Given the description of an element on the screen output the (x, y) to click on. 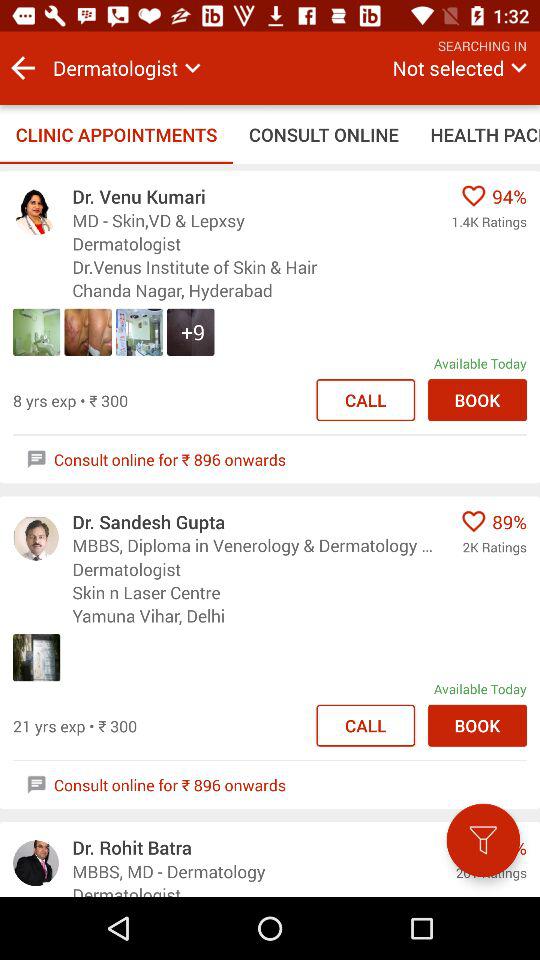
return to previous screen (23, 68)
